Given the description of an element on the screen output the (x, y) to click on. 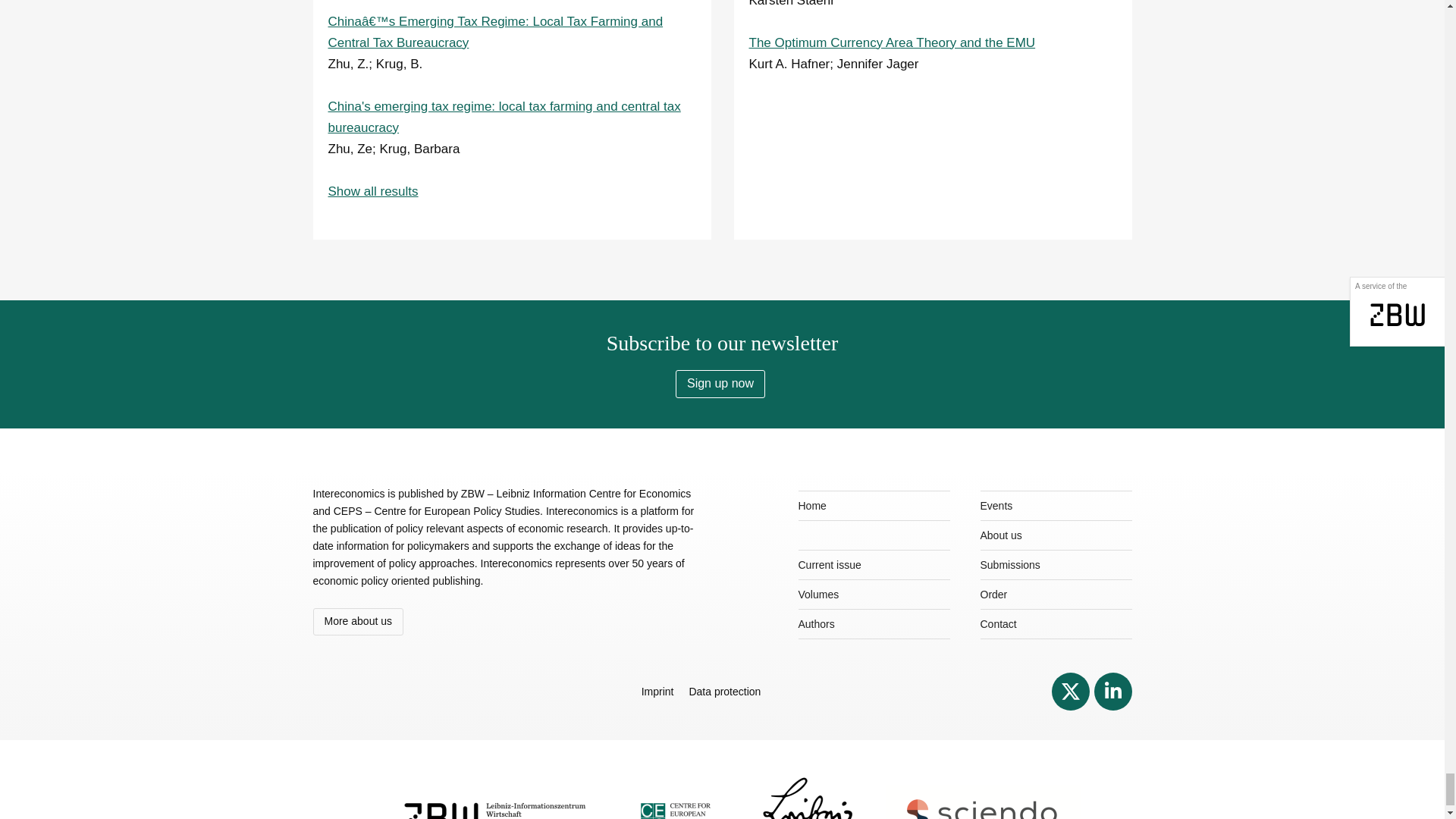
Intereconomics on X (1070, 690)
Intereconomics on LinkedIn (1112, 690)
